Given the description of an element on the screen output the (x, y) to click on. 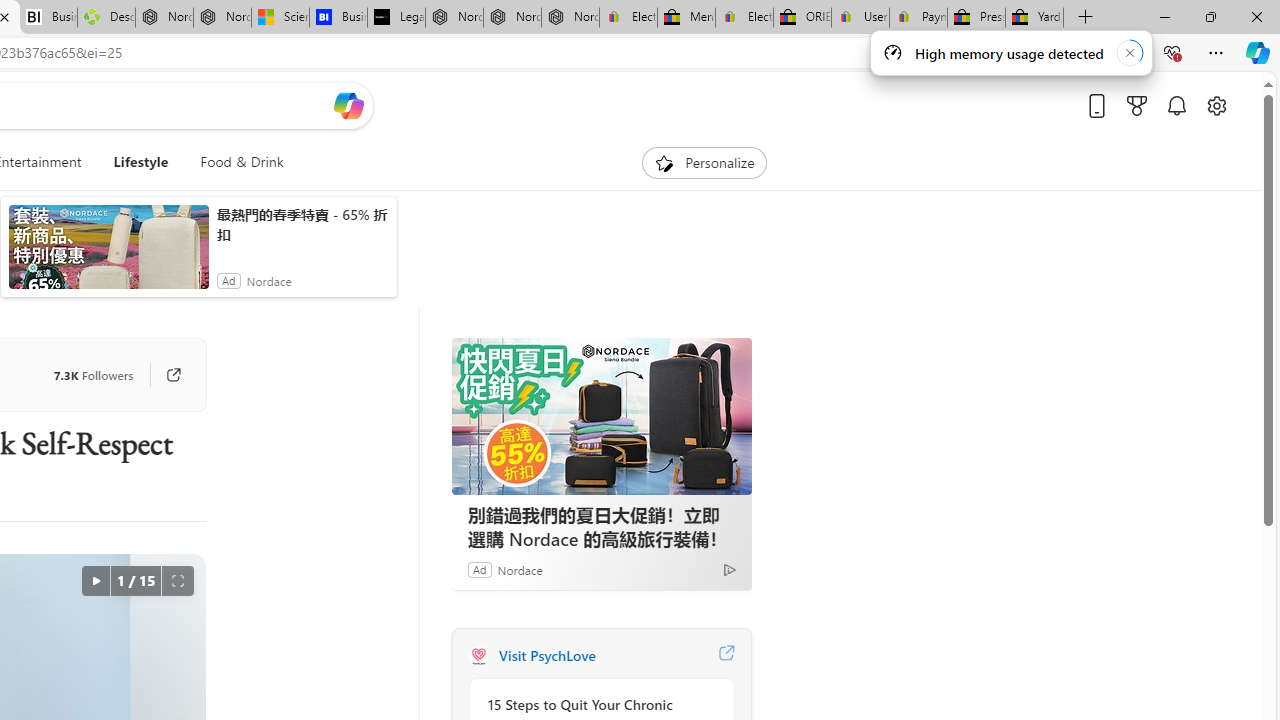
Open settings (1216, 105)
User Privacy Notice | eBay (860, 17)
PsychLove (478, 655)
Food & Drink (241, 162)
Press Room - eBay Inc. (976, 17)
